Given the description of an element on the screen output the (x, y) to click on. 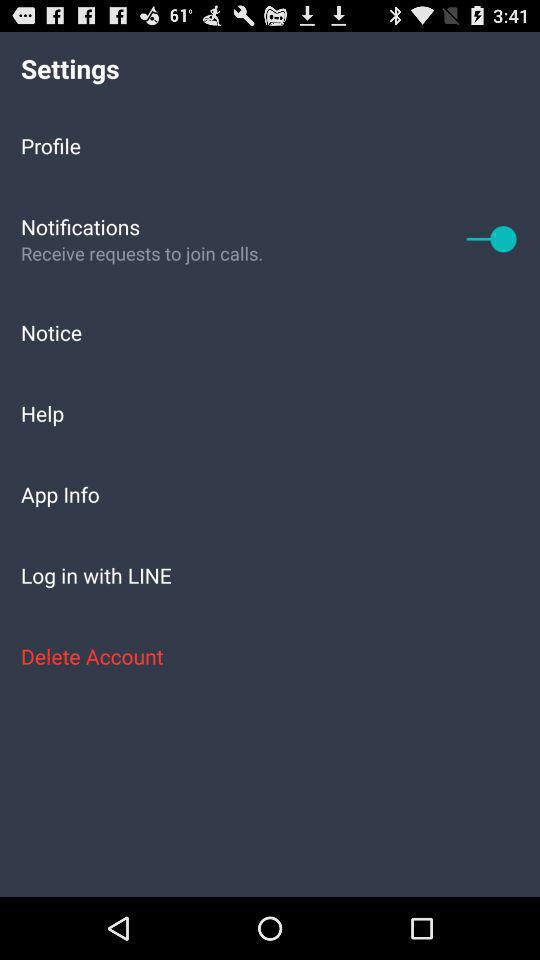
launch the app next to the receive requests to icon (492, 238)
